Given the description of an element on the screen output the (x, y) to click on. 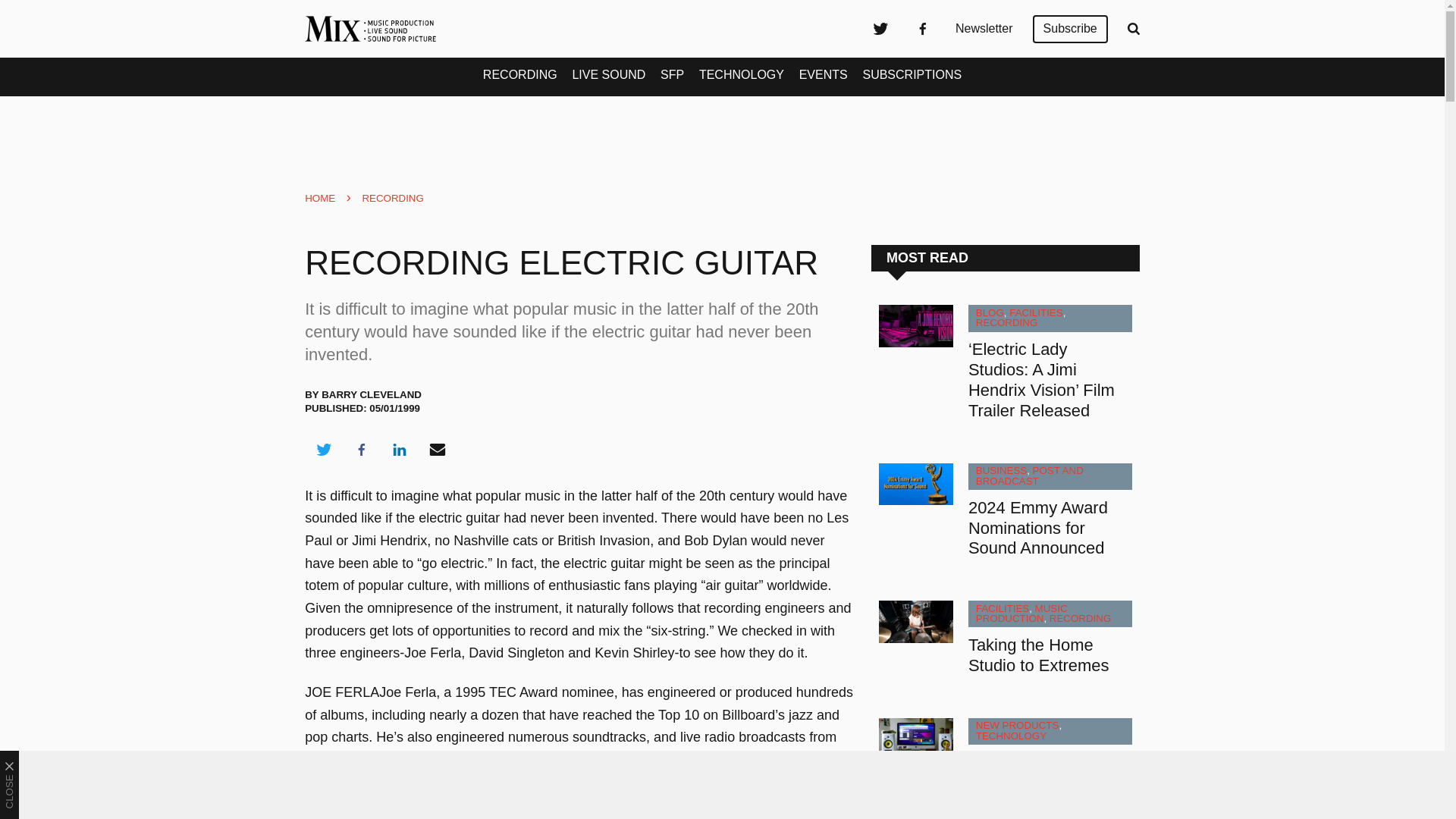
Share on LinkedIn (399, 449)
Share on Facebook (361, 449)
Share via Email (438, 449)
Share on Twitter (323, 449)
